Given the description of an element on the screen output the (x, y) to click on. 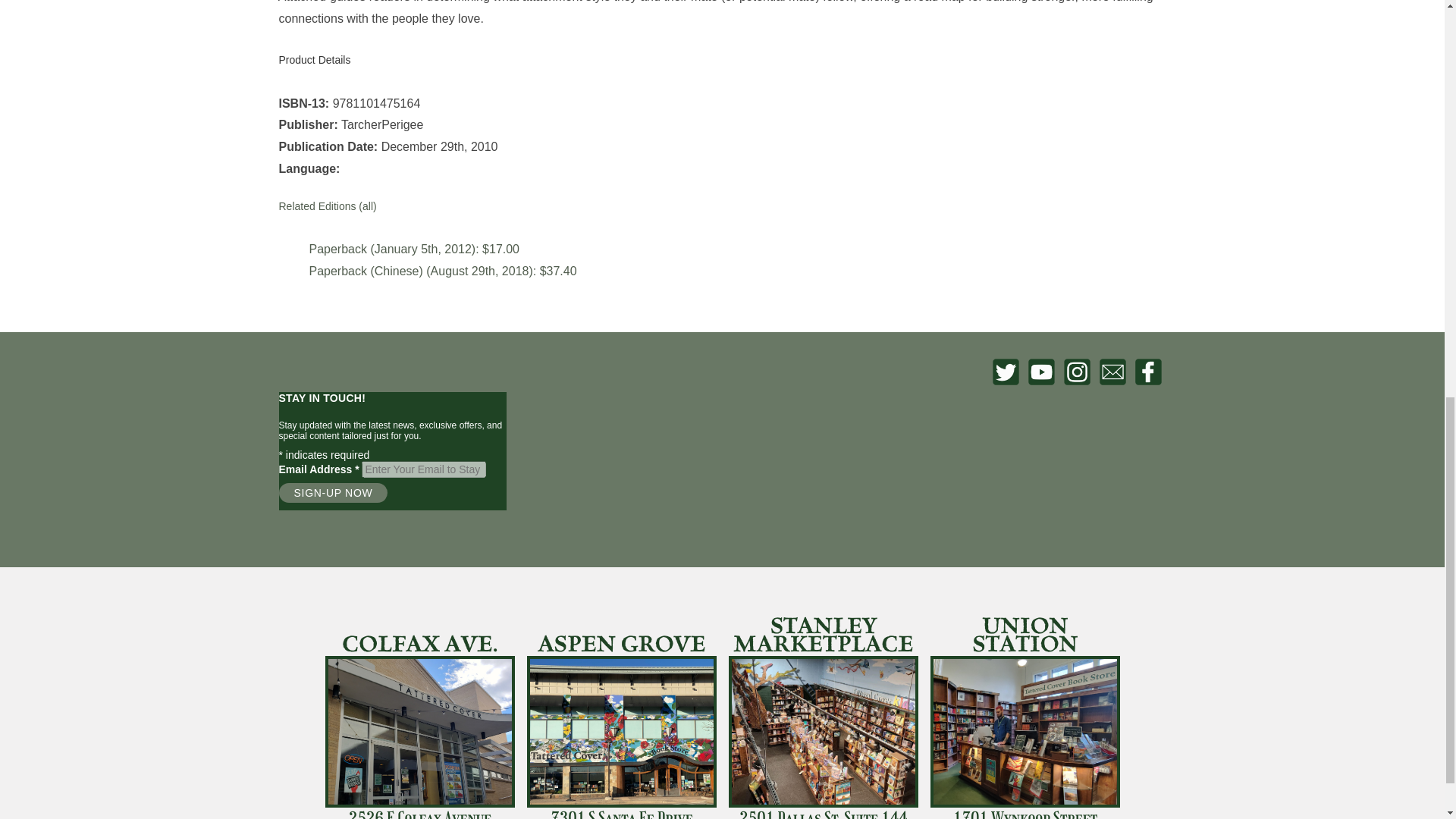
Sign-Up Now (333, 492)
